Given the description of an element on the screen output the (x, y) to click on. 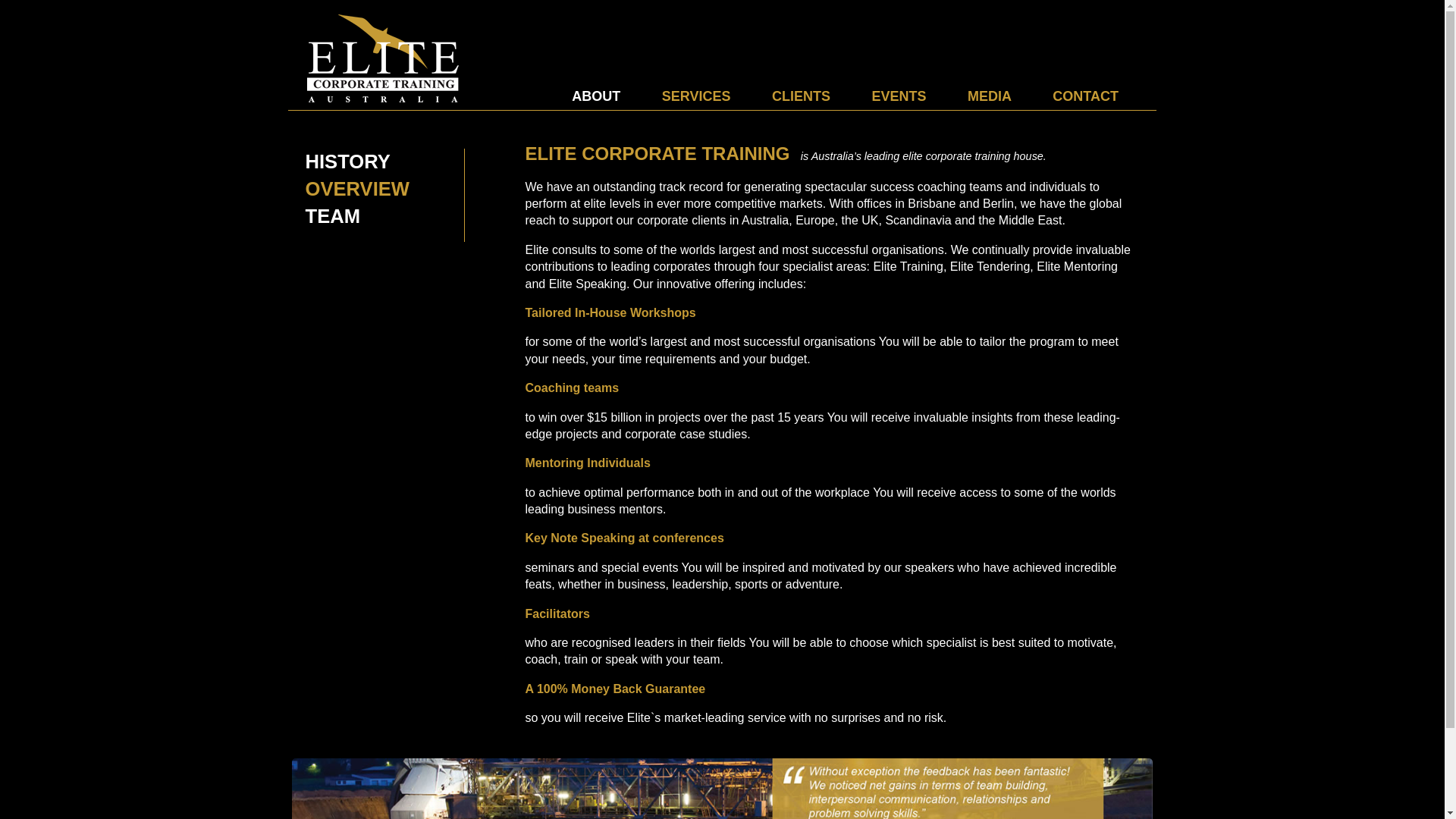
HISTORY Element type: text (364, 161)
TEAM Element type: text (364, 216)
OVERVIEW Element type: text (364, 189)
CLIENTS Element type: text (801, 95)
ABOUT Element type: text (595, 95)
SERVICES Element type: text (696, 95)
EVENTS Element type: text (898, 95)
CONTACT Element type: text (1085, 95)
MEDIA Element type: text (989, 95)
